Given the description of an element on the screen output the (x, y) to click on. 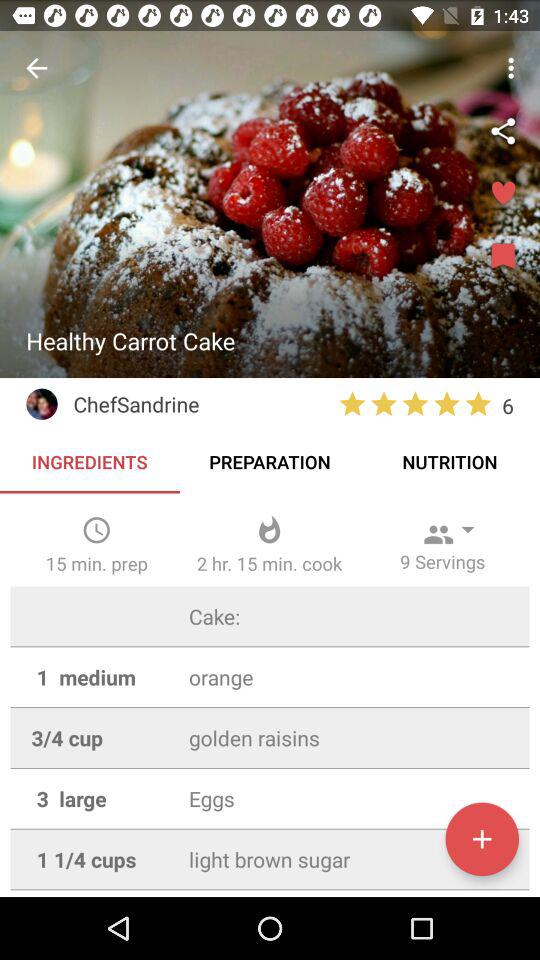
add appsen (482, 839)
